Given the description of an element on the screen output the (x, y) to click on. 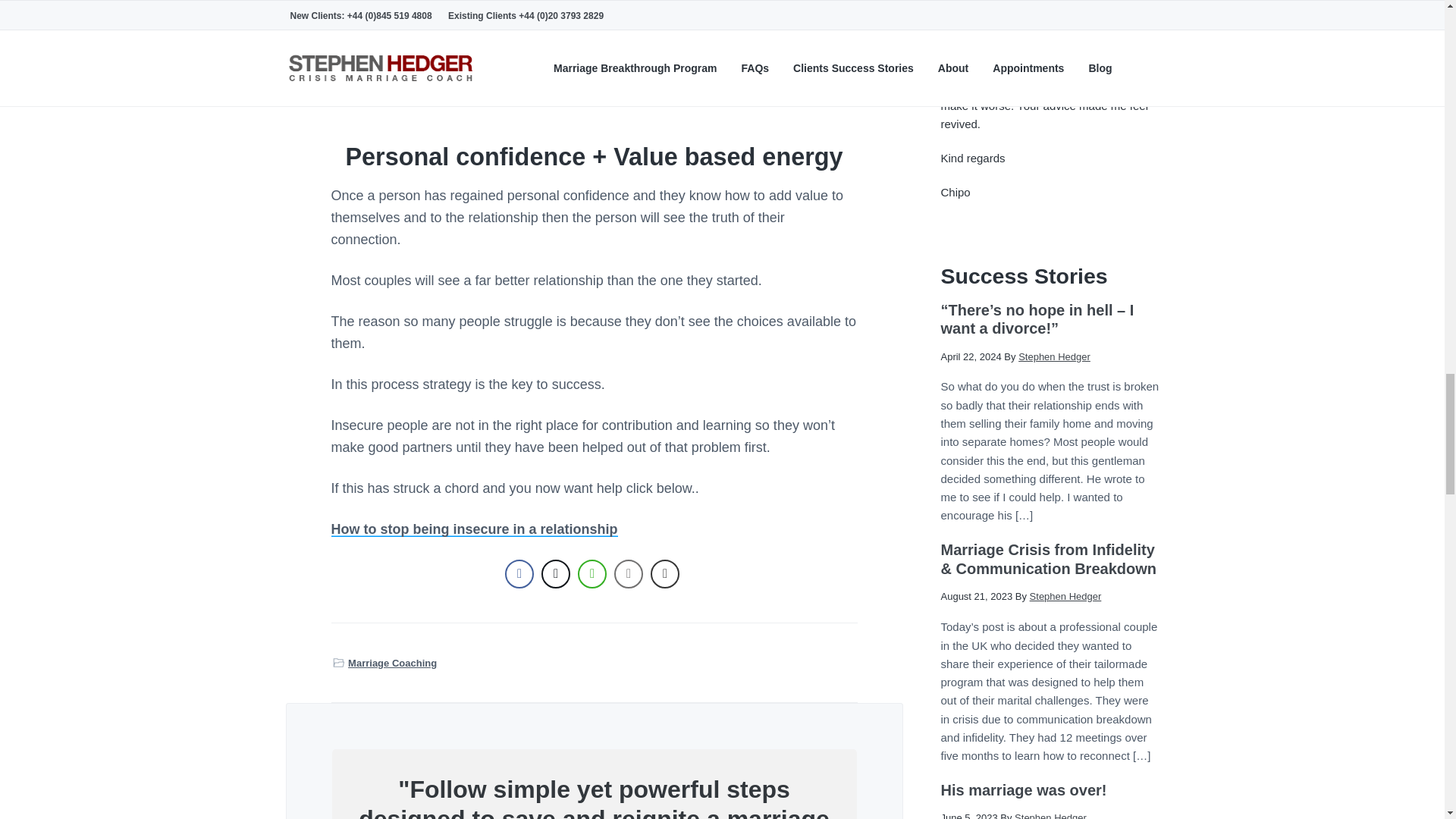
How to stop being insecure in a relationship (473, 529)
Marriage Coaching (391, 662)
